Given the description of an element on the screen output the (x, y) to click on. 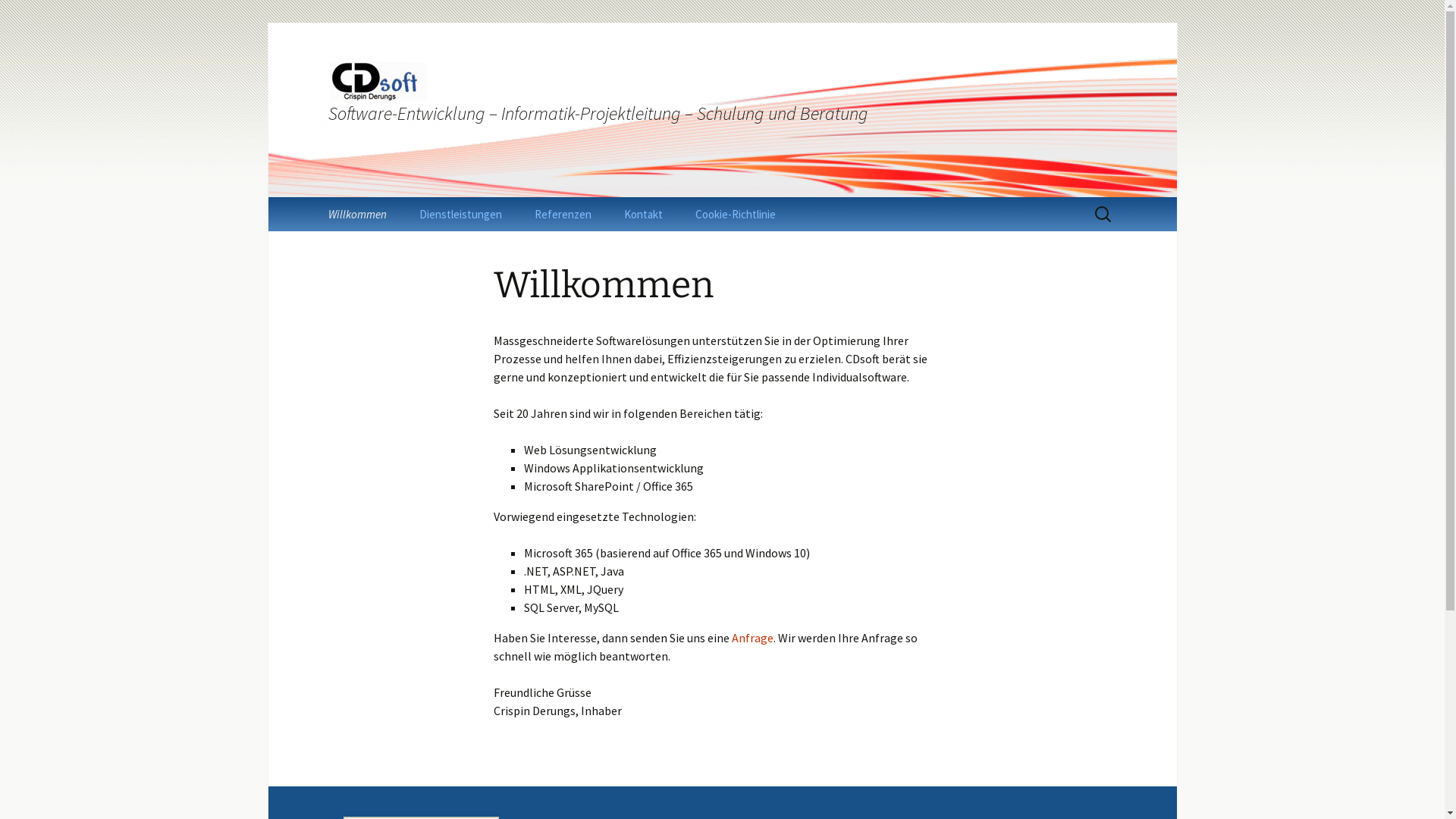
Zum Inhalt springen Element type: text (312, 196)
Kontakt Element type: text (642, 214)
Dienstleistungen Element type: text (459, 214)
Cookie-Richtlinie Element type: text (734, 214)
Suche Element type: text (32, 15)
Suche Element type: text (18, 16)
Referenzen Element type: text (561, 214)
Willkommen Element type: text (356, 214)
Anfrage Element type: text (751, 637)
